Given the description of an element on the screen output the (x, y) to click on. 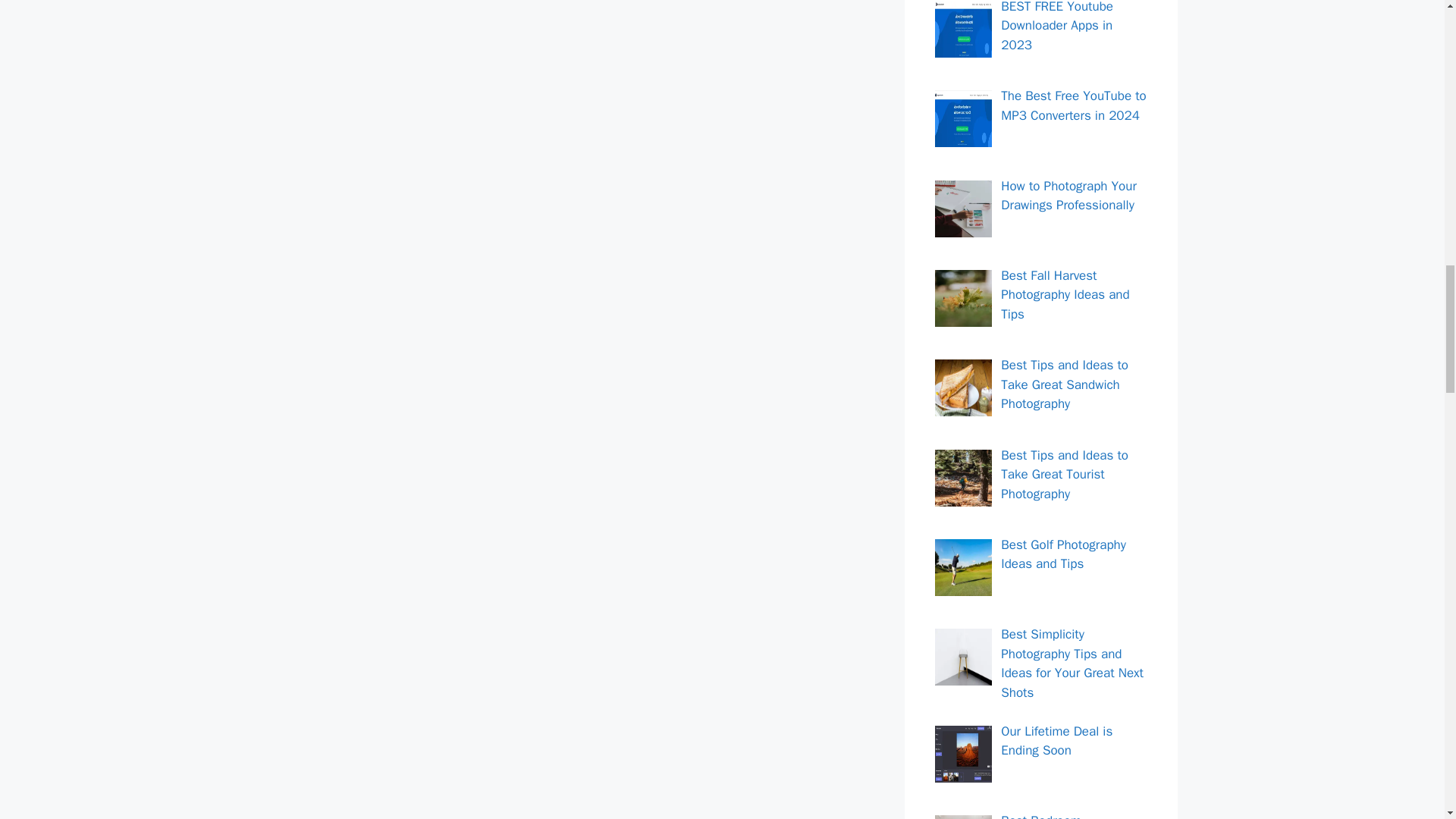
Our Lifetime Deal is Ending Soon (1056, 741)
How to Photograph Your Drawings Professionally (1069, 195)
BEST FREE Youtube Downloader Apps in 2023 (1057, 26)
The Best Free YouTube to MP3 Converters in 2024 (1074, 105)
Best Tips and Ideas to Take Great Sandwich Photography (1064, 384)
Best Tips and Ideas to Take Great Tourist Photography (1064, 474)
Best Golf Photography Ideas and Tips (1063, 554)
Best Fall Harvest Photography Ideas and Tips (1065, 294)
